Given the description of an element on the screen output the (x, y) to click on. 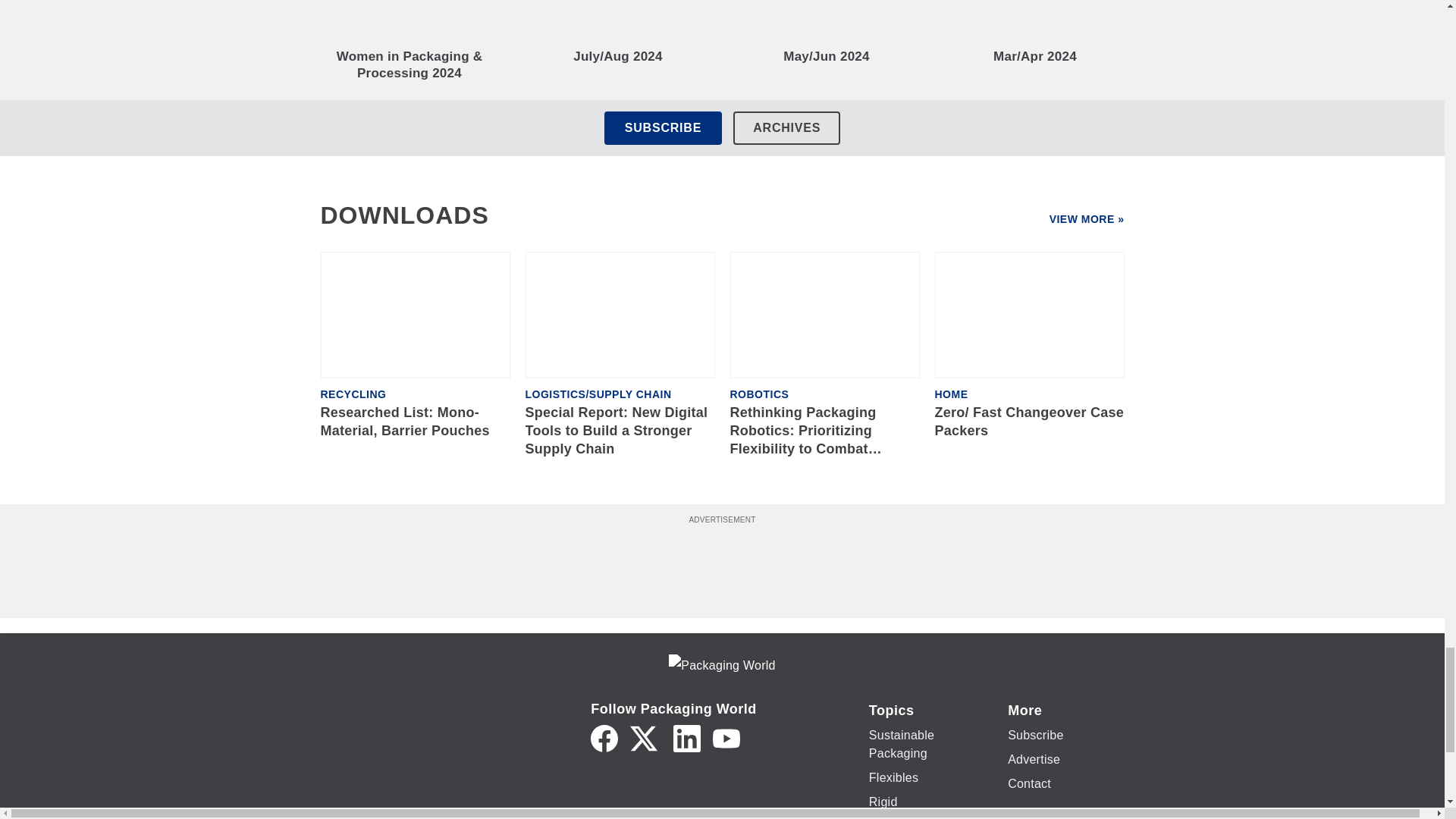
LinkedIn icon (686, 738)
Facebook icon (604, 738)
YouTube icon (726, 738)
Twitter X icon (644, 738)
